Given the description of an element on the screen output the (x, y) to click on. 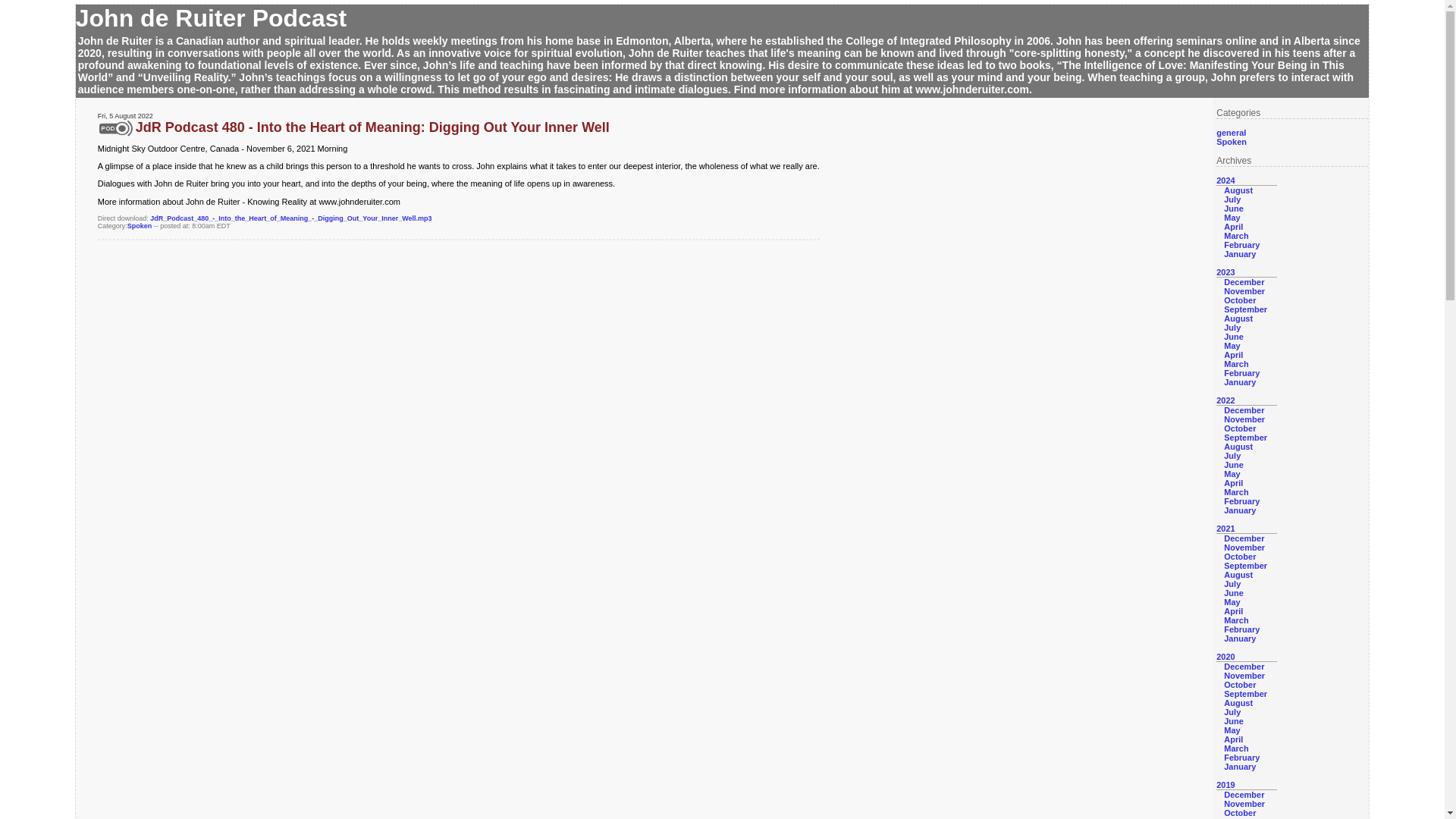
June (1233, 207)
April (1233, 354)
September (1245, 308)
May (1232, 473)
January (1239, 510)
November (1244, 547)
August (1238, 317)
March (1235, 491)
October (1239, 299)
August (1238, 446)
